Given the description of an element on the screen output the (x, y) to click on. 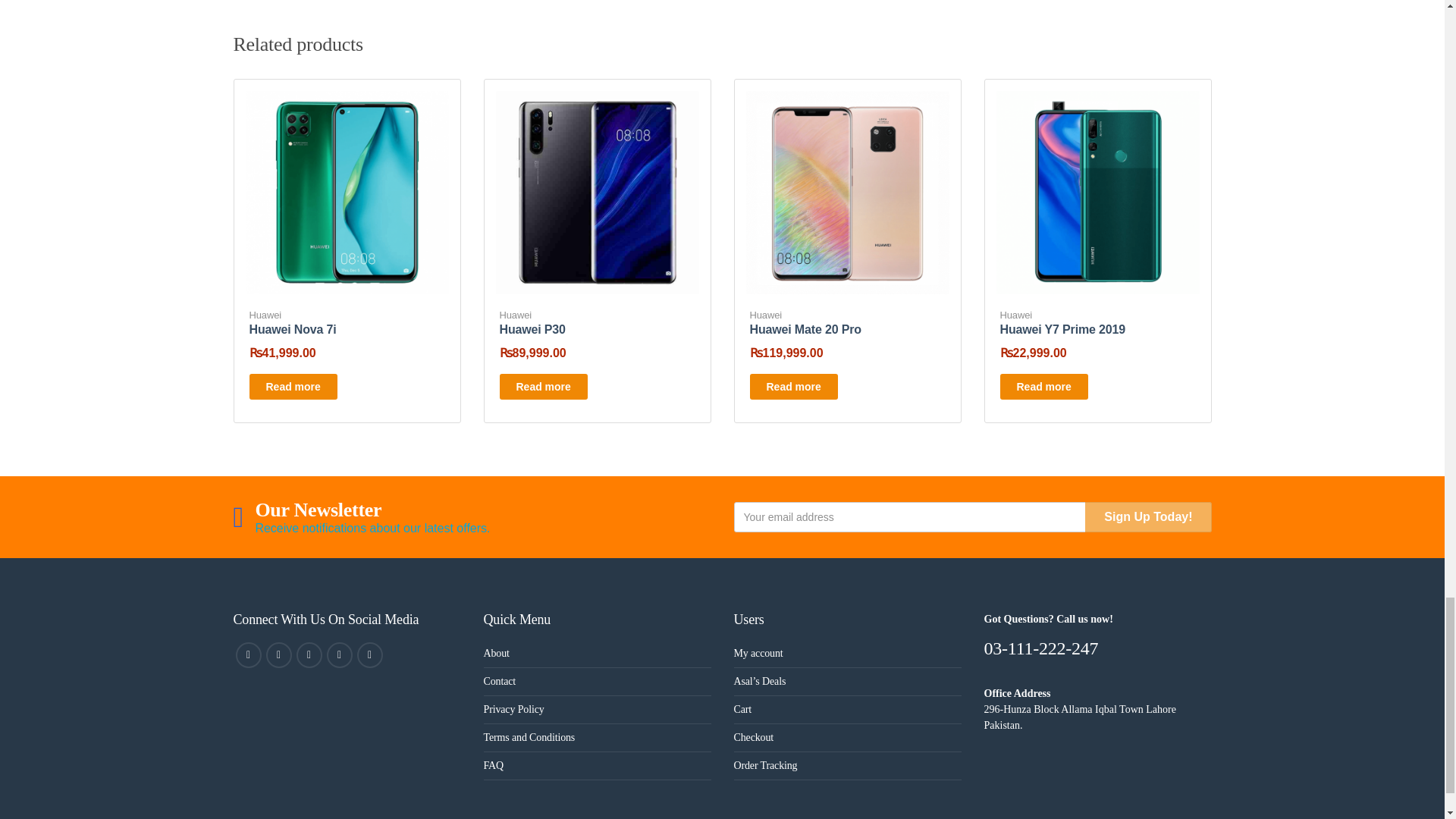
Huawei (264, 315)
